Given the description of an element on the screen output the (x, y) to click on. 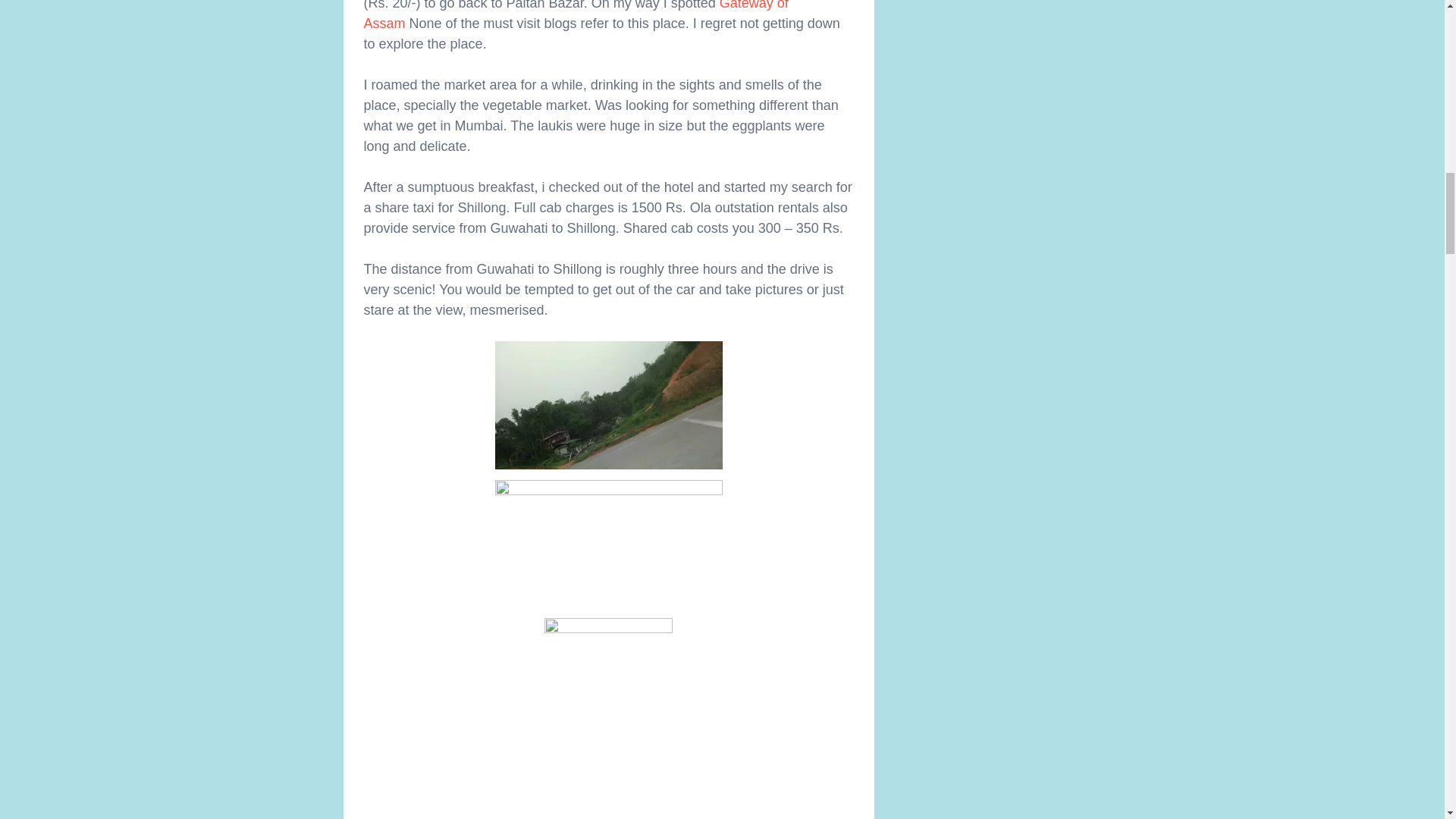
Gateway of Assam (576, 15)
